Given the description of an element on the screen output the (x, y) to click on. 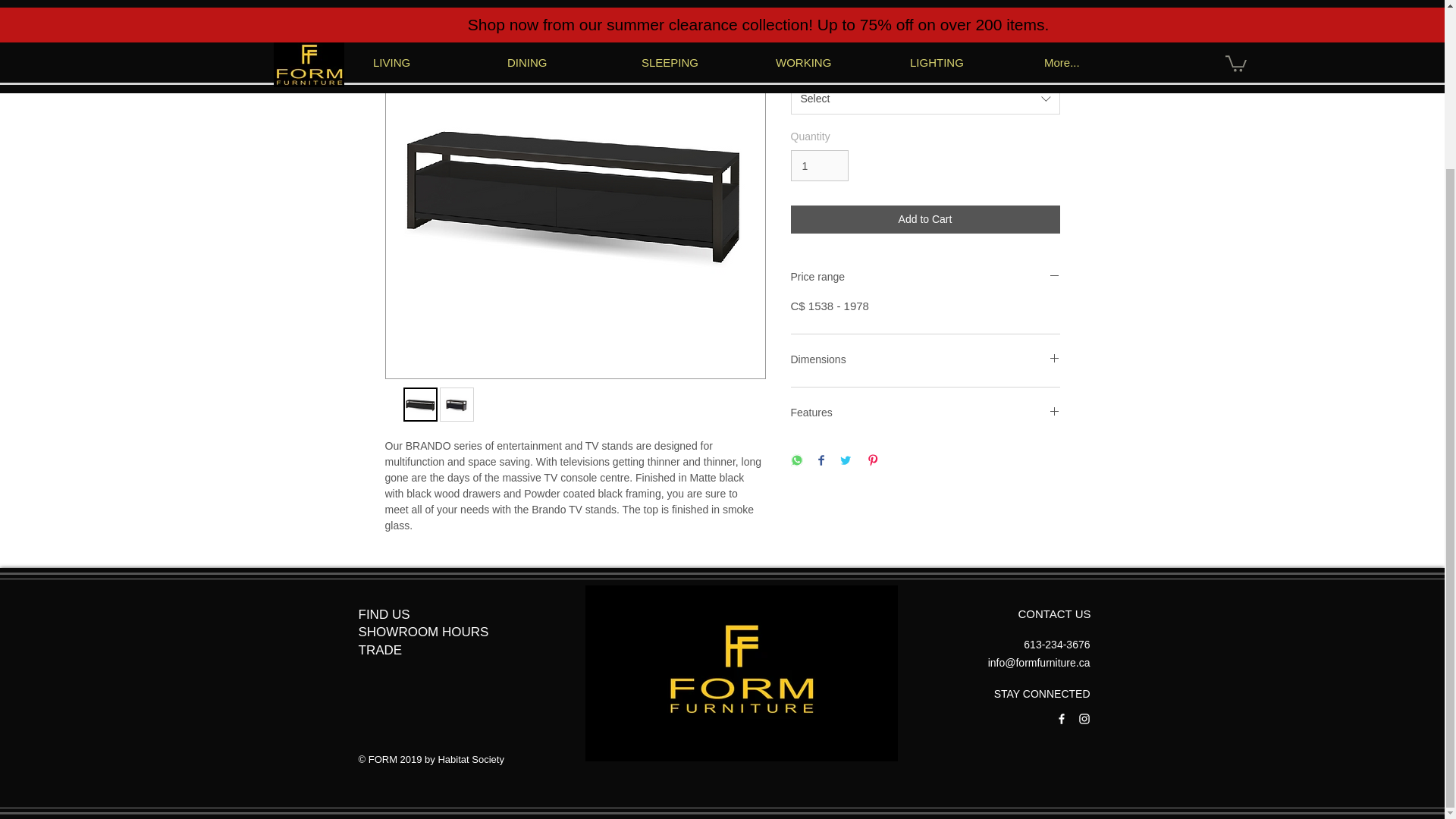
1 (818, 164)
